Given the description of an element on the screen output the (x, y) to click on. 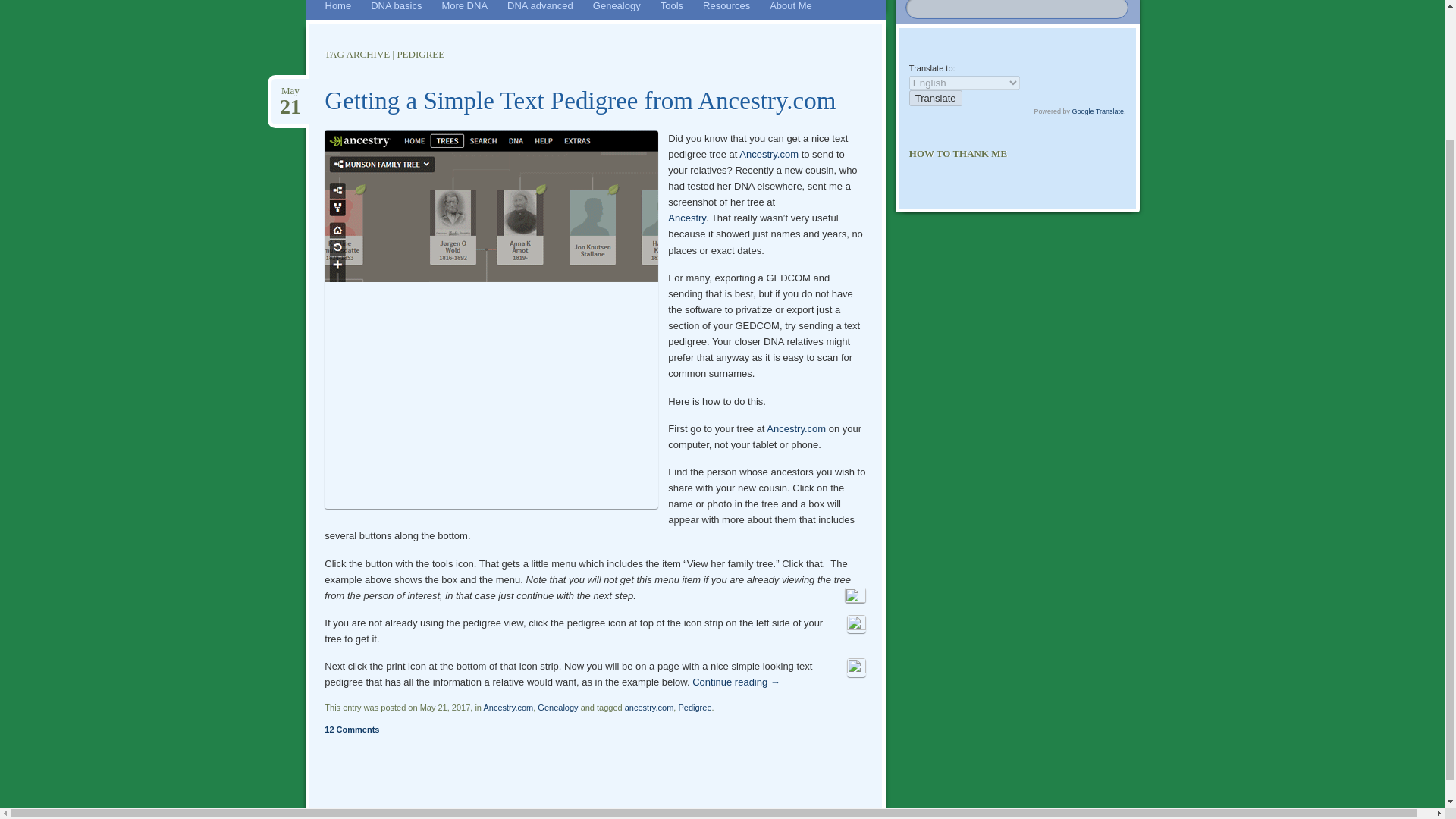
May 21, 2017 (289, 91)
More DNA (463, 10)
Home (338, 10)
Translate (935, 98)
DNA basics (395, 10)
